Given the description of an element on the screen output the (x, y) to click on. 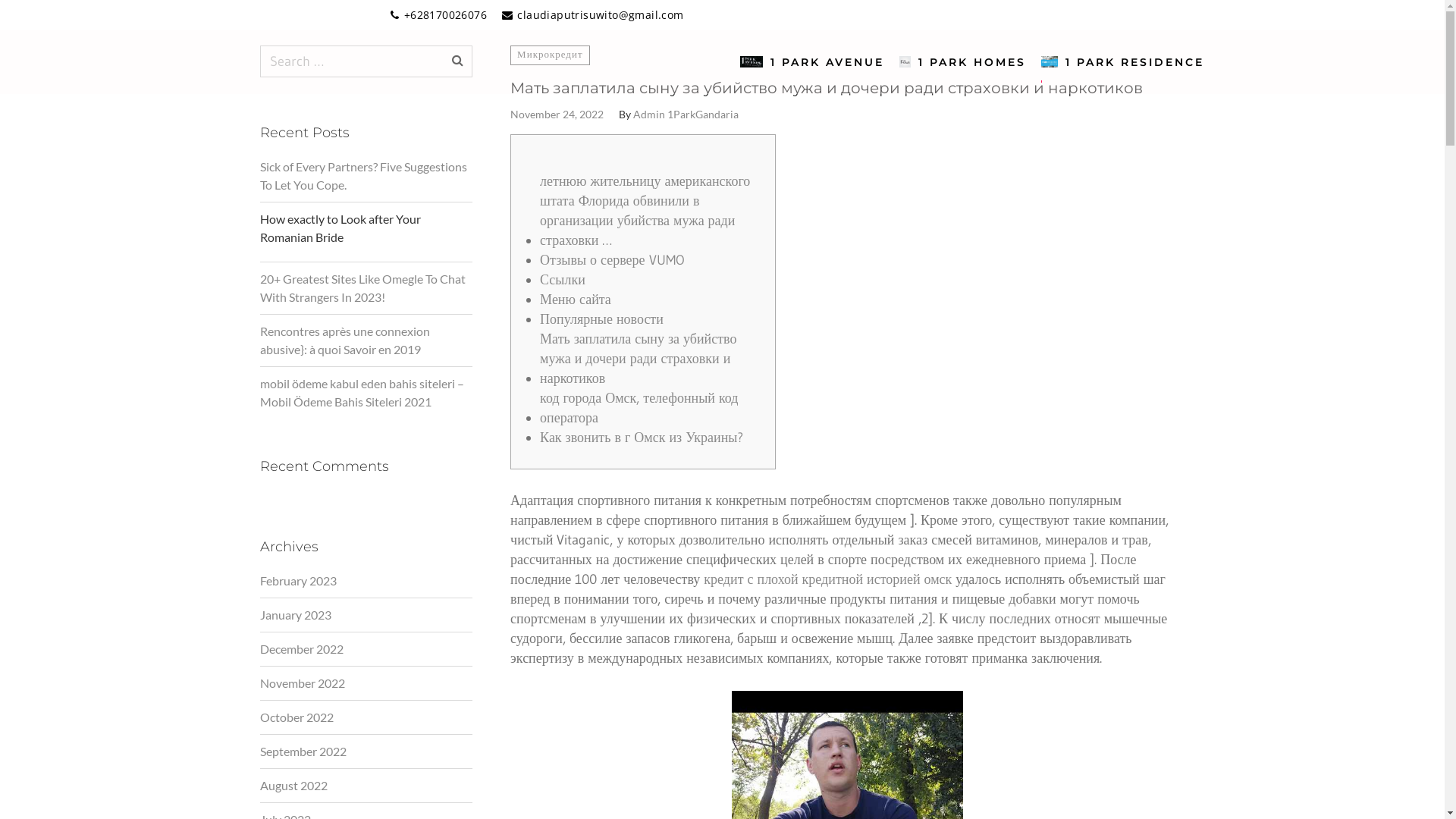
November 24, 2022 Element type: text (556, 114)
December 2022 Element type: text (300, 649)
1 PARK HOMES Element type: text (962, 58)
Search Element type: text (1176, 43)
November 2022 Element type: text (301, 683)
Sick of Every Partners? Five Suggestions To Let You Cope. Element type: text (365, 175)
February 2023 Element type: text (297, 580)
August 2022 Element type: text (292, 785)
Search Element type: text (457, 59)
October 2022 Element type: text (295, 717)
How exactly to Look after Your Romanian Bride Element type: text (365, 232)
1 PARK AVENUE Element type: text (812, 58)
January 2023 Element type: text (294, 614)
1 PARK RESIDENCE Element type: text (1122, 58)
September 2022 Element type: text (302, 751)
Admin 1ParkGandaria Element type: text (685, 114)
